Given the description of an element on the screen output the (x, y) to click on. 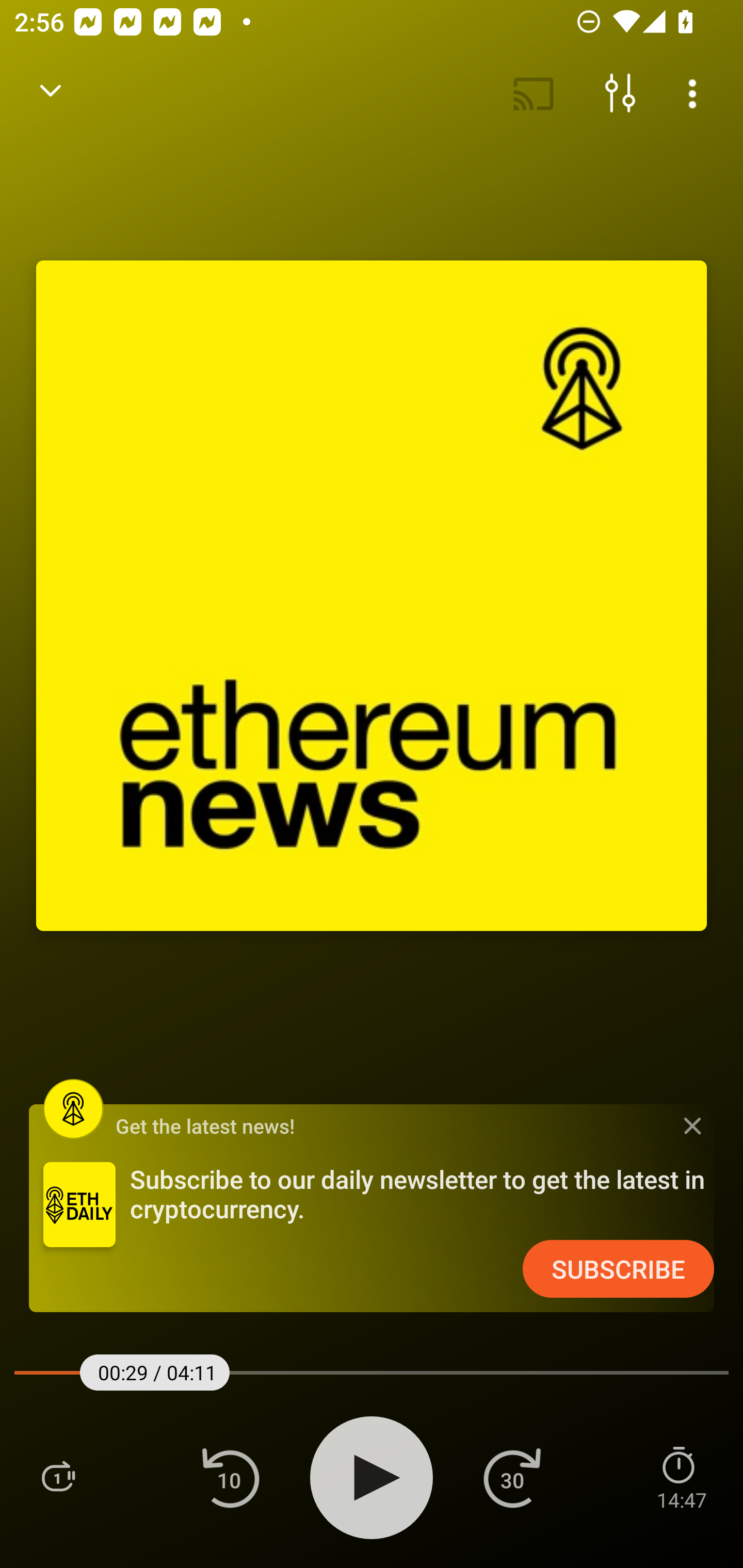
Cast. Disconnected (533, 93)
 Back (50, 94)
SUBSCRIBE (618, 1269)
Sleep Timer  14:47 (681, 1477)
 Playlist (57, 1477)
